Given the description of an element on the screen output the (x, y) to click on. 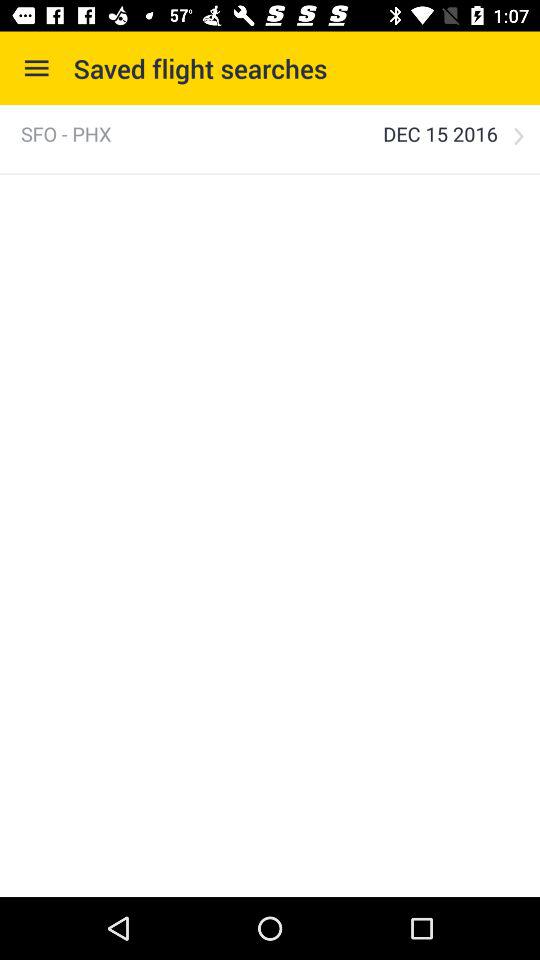
press item above the sfo - phx item (36, 68)
